Given the description of an element on the screen output the (x, y) to click on. 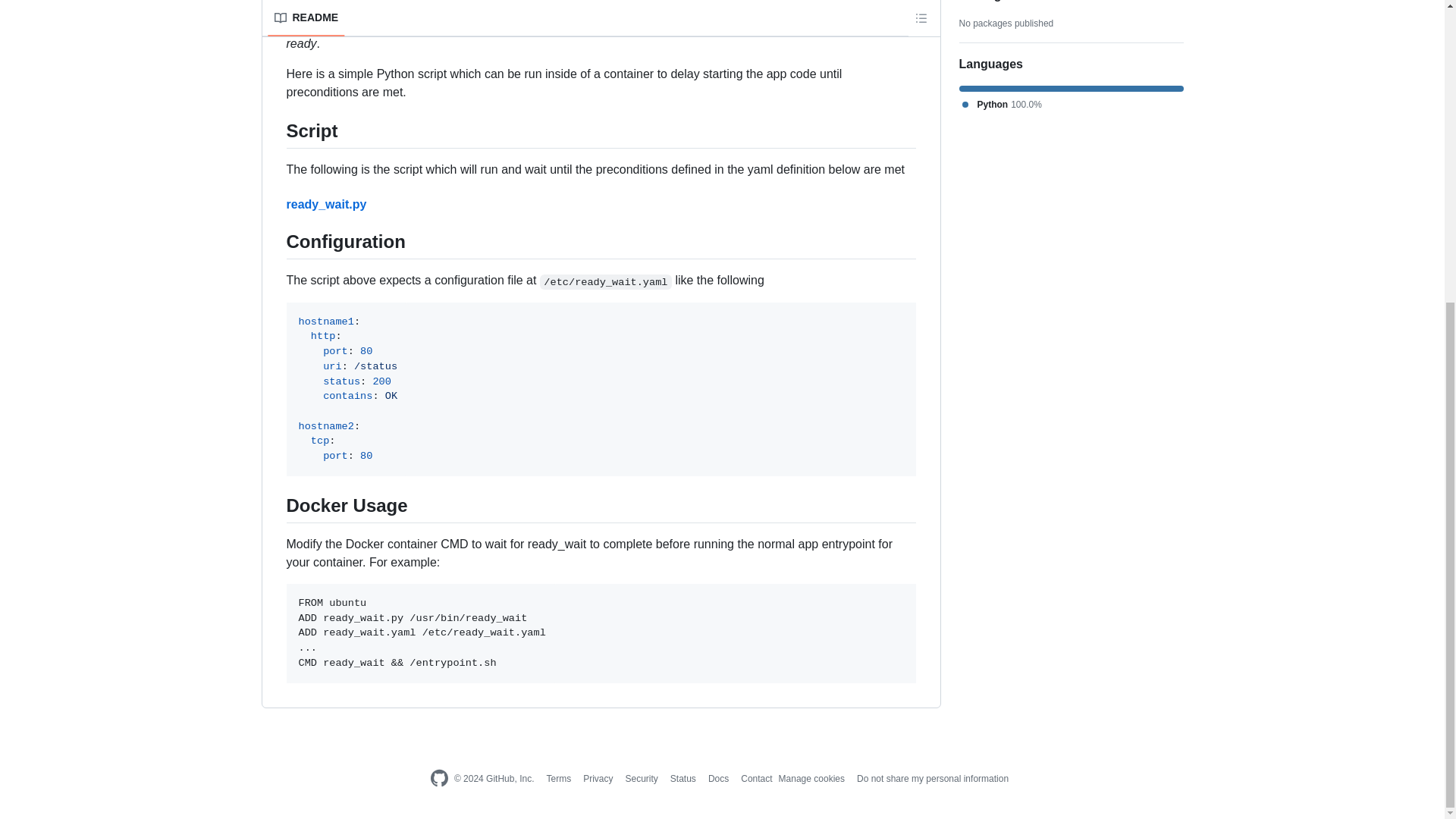
GitHub (438, 778)
